Given the description of an element on the screen output the (x, y) to click on. 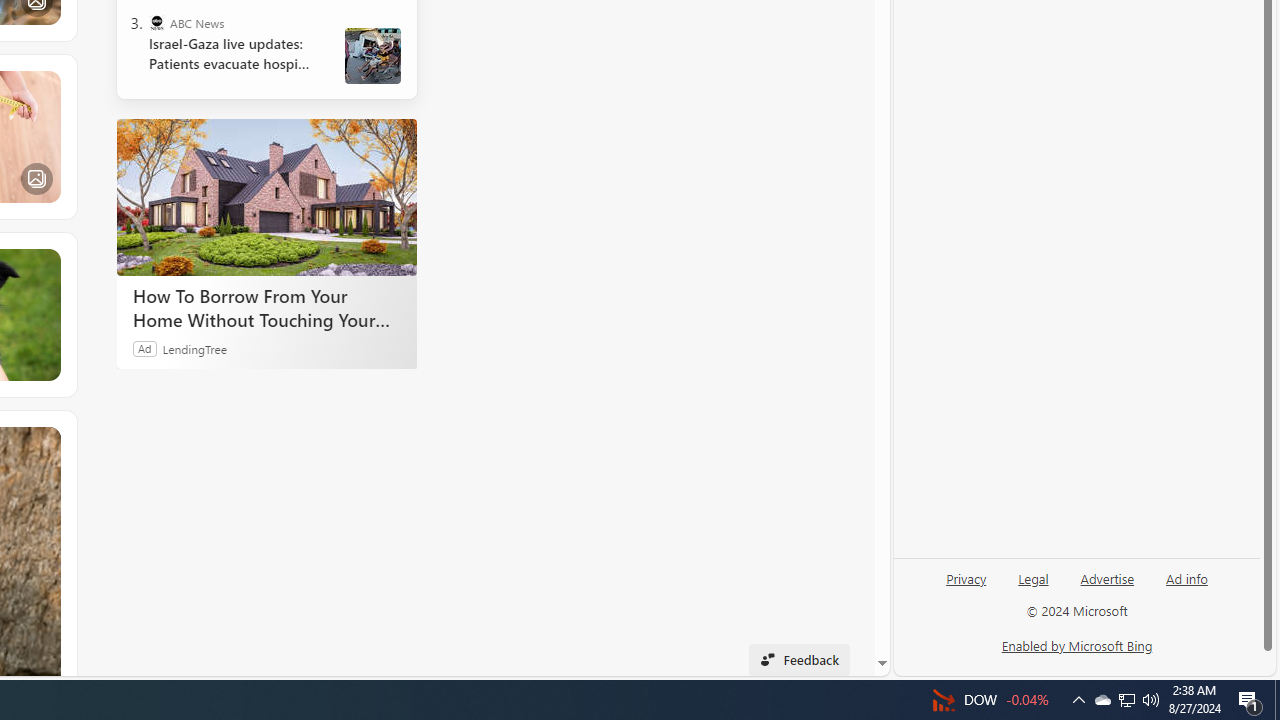
Privacy (965, 577)
LendingTree (194, 348)
Feedback (798, 659)
How To Borrow From Your Home Without Touching Your Mortgage (266, 307)
See more (46, 440)
Ad info (1186, 586)
Legal (1033, 586)
How To Borrow From Your Home Without Touching Your Mortgage (266, 196)
Ad (145, 348)
Ad info (1187, 577)
ABC News (156, 22)
Advertise (1107, 577)
